Given the description of an element on the screen output the (x, y) to click on. 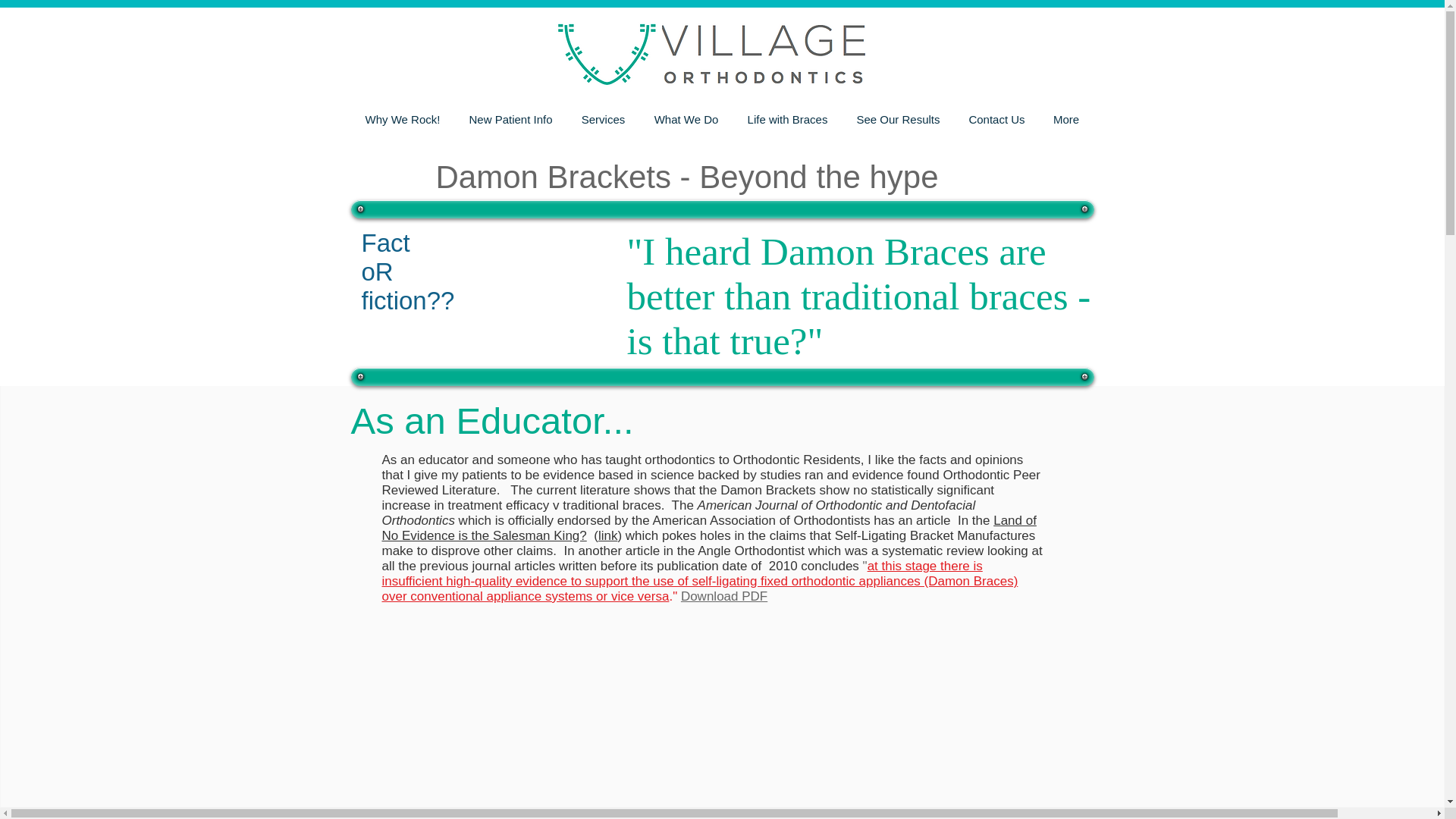
Why We Rock! (402, 119)
See Our Results (897, 119)
Life with Braces (786, 119)
New Patient Info (510, 119)
Services (603, 119)
Contact Us (996, 119)
